Given the description of an element on the screen output the (x, y) to click on. 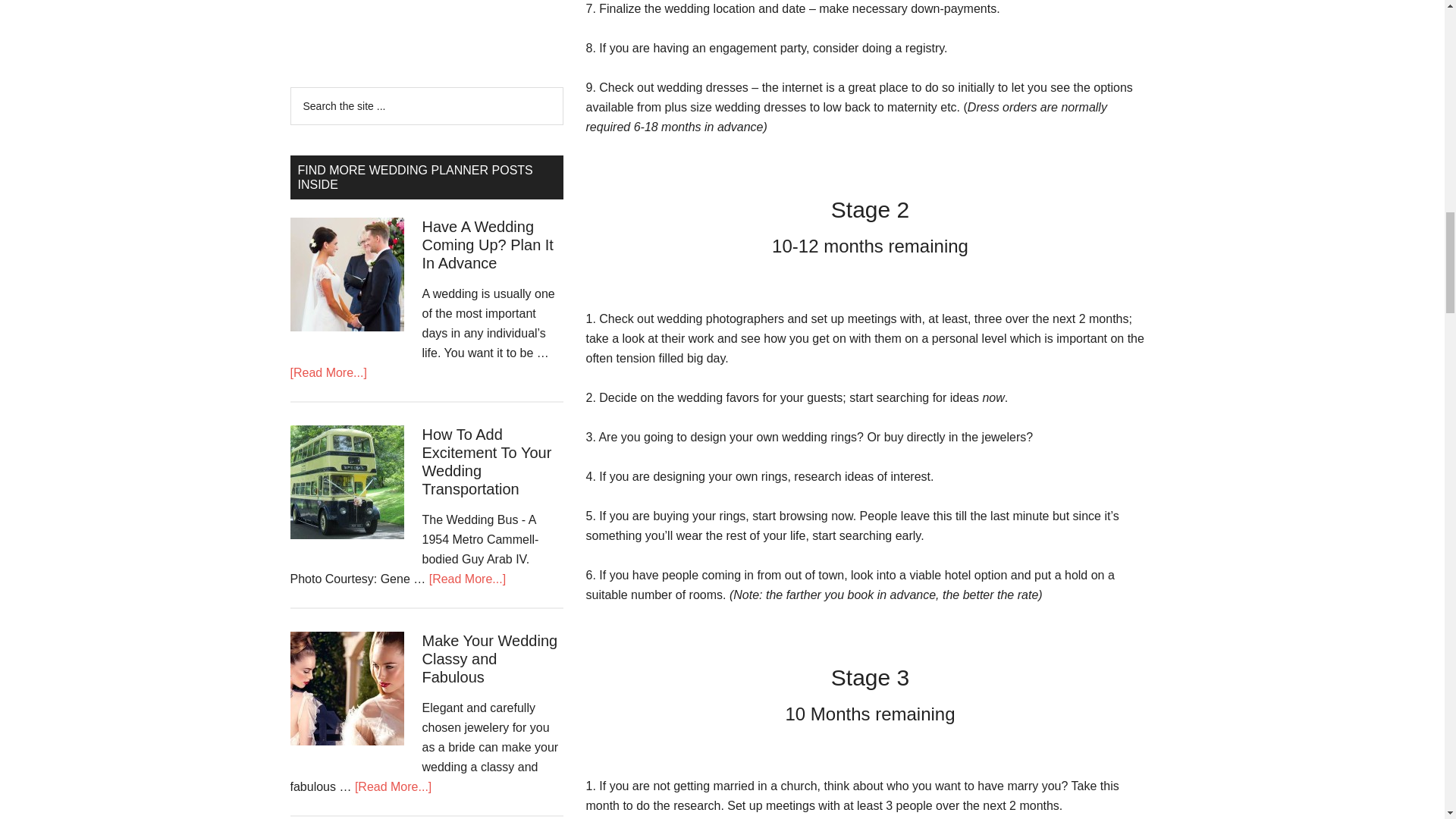
How To Add Excitement To Your Wedding Transportation (486, 461)
Advertisement (402, 25)
Have A Wedding Coming Up? Plan It In Advance (487, 244)
Make Your Wedding Classy and Fabulous (489, 658)
